Given the description of an element on the screen output the (x, y) to click on. 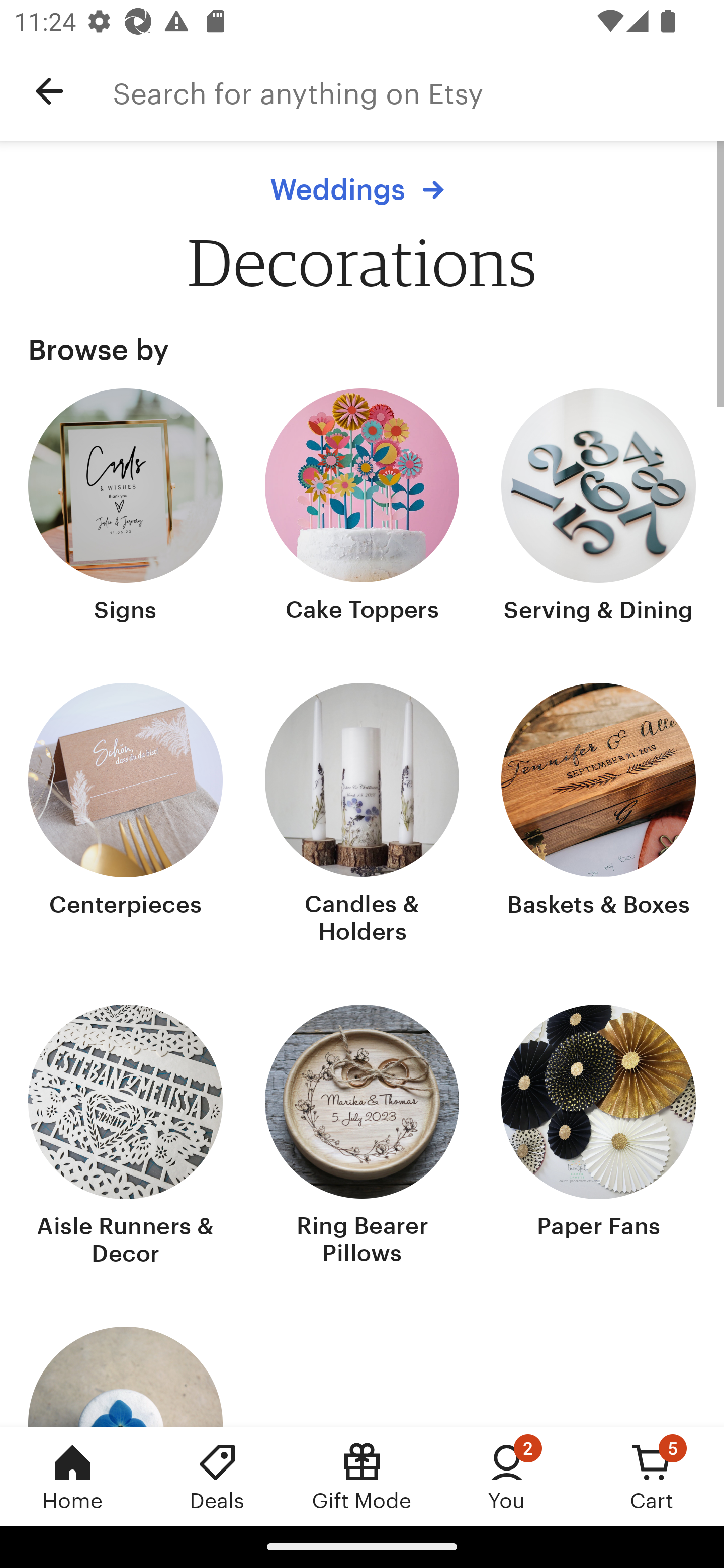
Navigate up (49, 91)
Search for anything on Etsy (418, 91)
Weddings (361, 189)
Signs (125, 507)
Cake Toppers (361, 507)
Serving & Dining (598, 507)
Centerpieces (125, 815)
Candles & Holders (361, 815)
Baskets & Boxes (598, 815)
Aisle Runners & Decor (125, 1137)
Ring Bearer Pillows (361, 1137)
Paper Fans (598, 1137)
Deals (216, 1475)
Gift Mode (361, 1475)
You, 2 new notifications You (506, 1475)
Cart, 5 new notifications Cart (651, 1475)
